Given the description of an element on the screen output the (x, y) to click on. 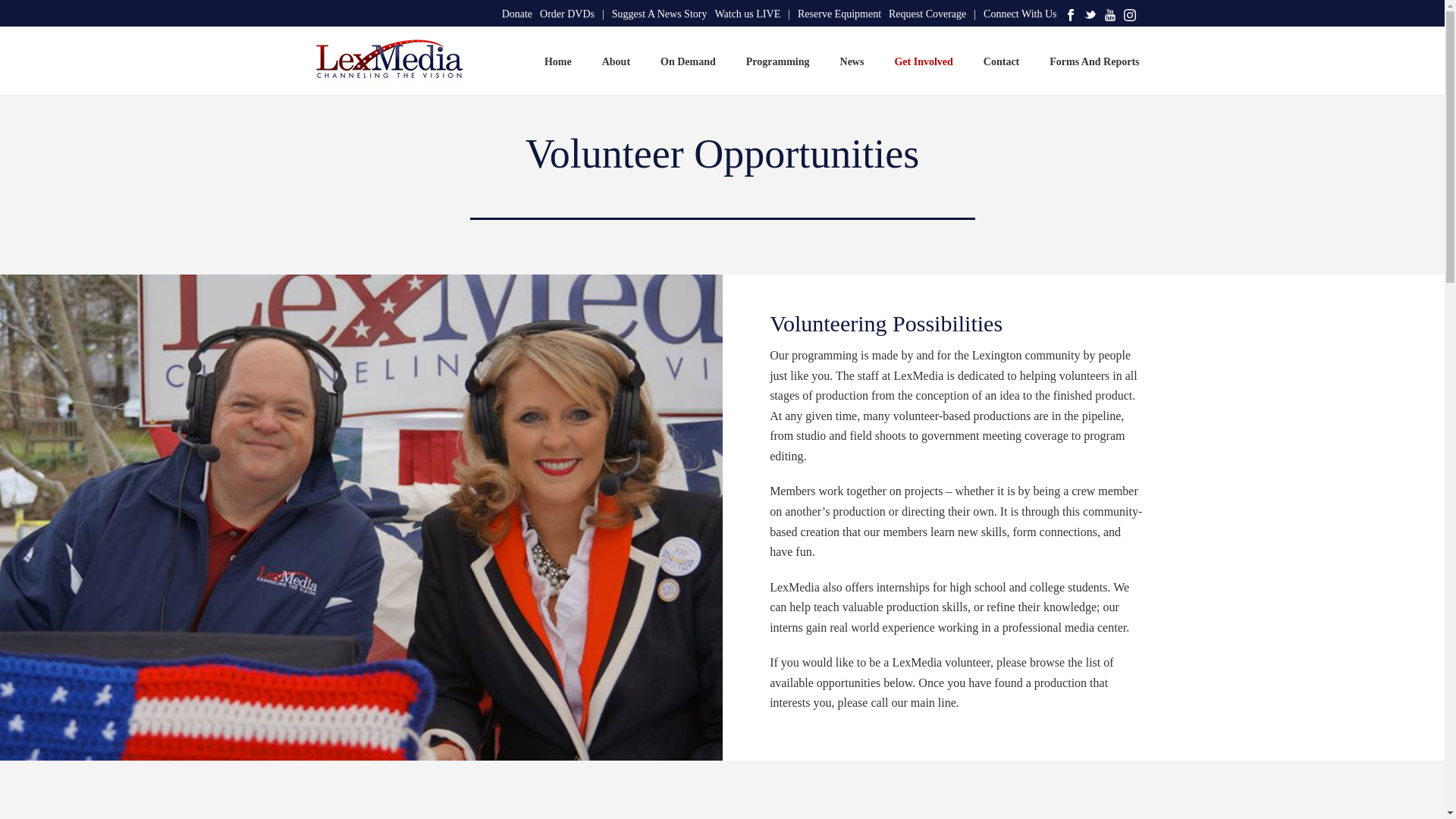
Order DVDs (572, 13)
Forms And Reports (1093, 60)
Watch us LIVE (752, 13)
Channeling the Vision (385, 60)
Get Involved (923, 60)
Programming (777, 60)
Get Involved (923, 60)
Request Coverage (931, 13)
Reserve Equipment (838, 13)
Donate (517, 13)
On Demand (687, 60)
Contact (1000, 60)
Connect With Us (1020, 13)
On Demand (687, 60)
Suggest A News Story (659, 13)
